Given the description of an element on the screen output the (x, y) to click on. 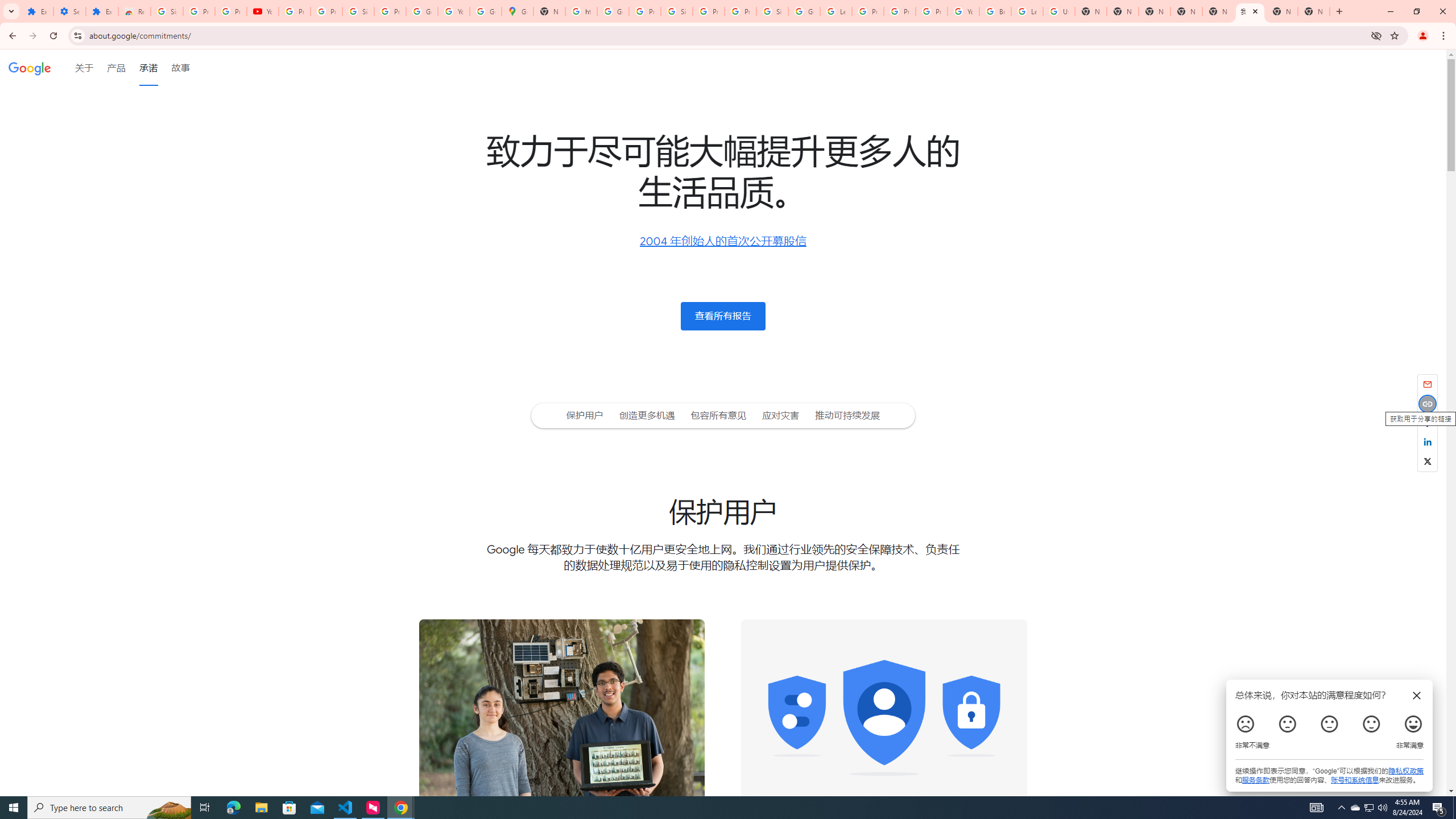
YouTube (963, 11)
Sign in - Google Accounts (166, 11)
Privacy Help Center - Policies Help (868, 11)
Google Maps (517, 11)
New Tab (1313, 11)
